Given the description of an element on the screen output the (x, y) to click on. 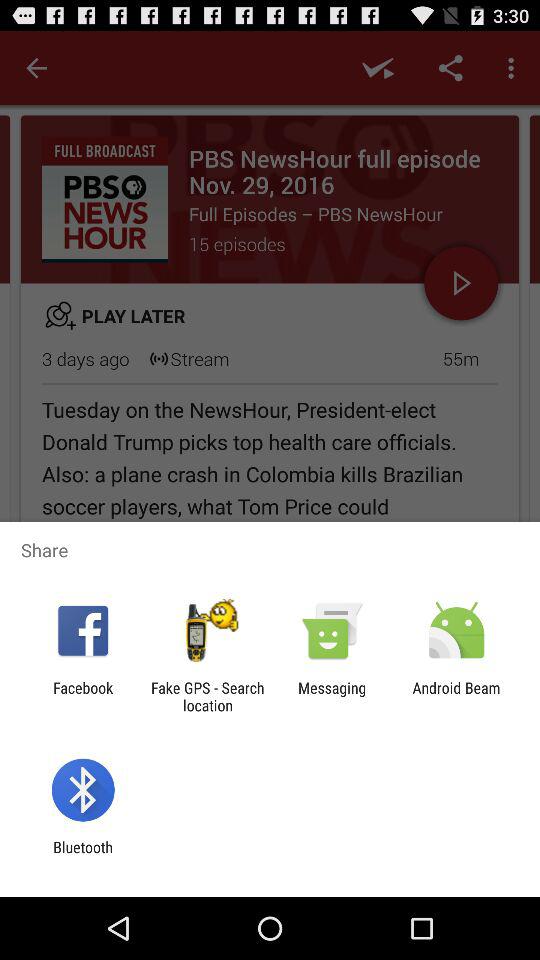
click the item to the right of fake gps search item (332, 696)
